Given the description of an element on the screen output the (x, y) to click on. 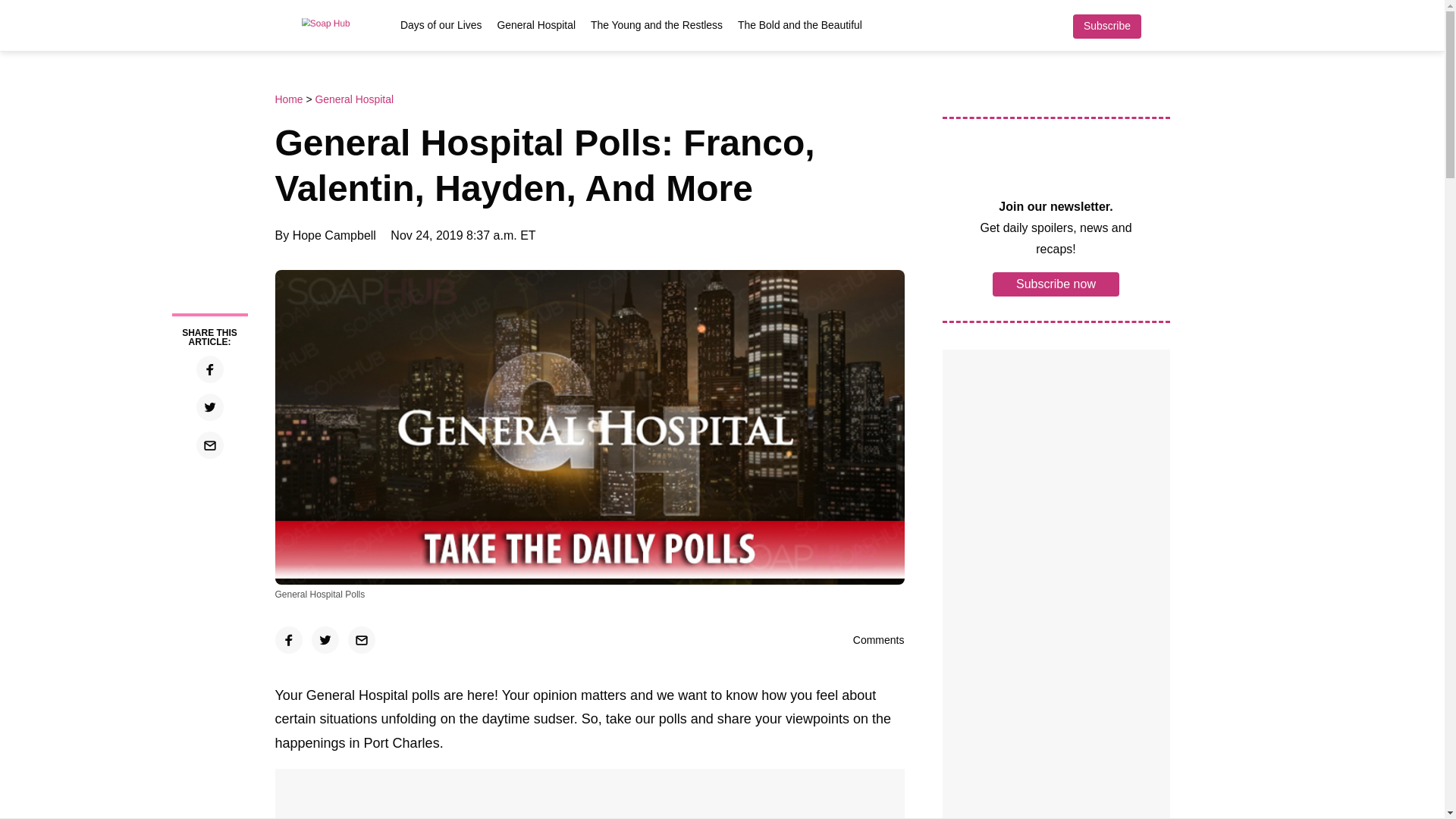
Hope Campbell (333, 235)
General Hospital (353, 99)
The Bold and the Beautiful (799, 24)
Days of our Lives (441, 24)
Click to email a link to a friend (360, 639)
Click to share on Twitter (208, 406)
Subscribe now (1055, 283)
The Young and the Restless (656, 24)
Search (1161, 26)
Click to email a link to a friend (208, 444)
